Given the description of an element on the screen output the (x, y) to click on. 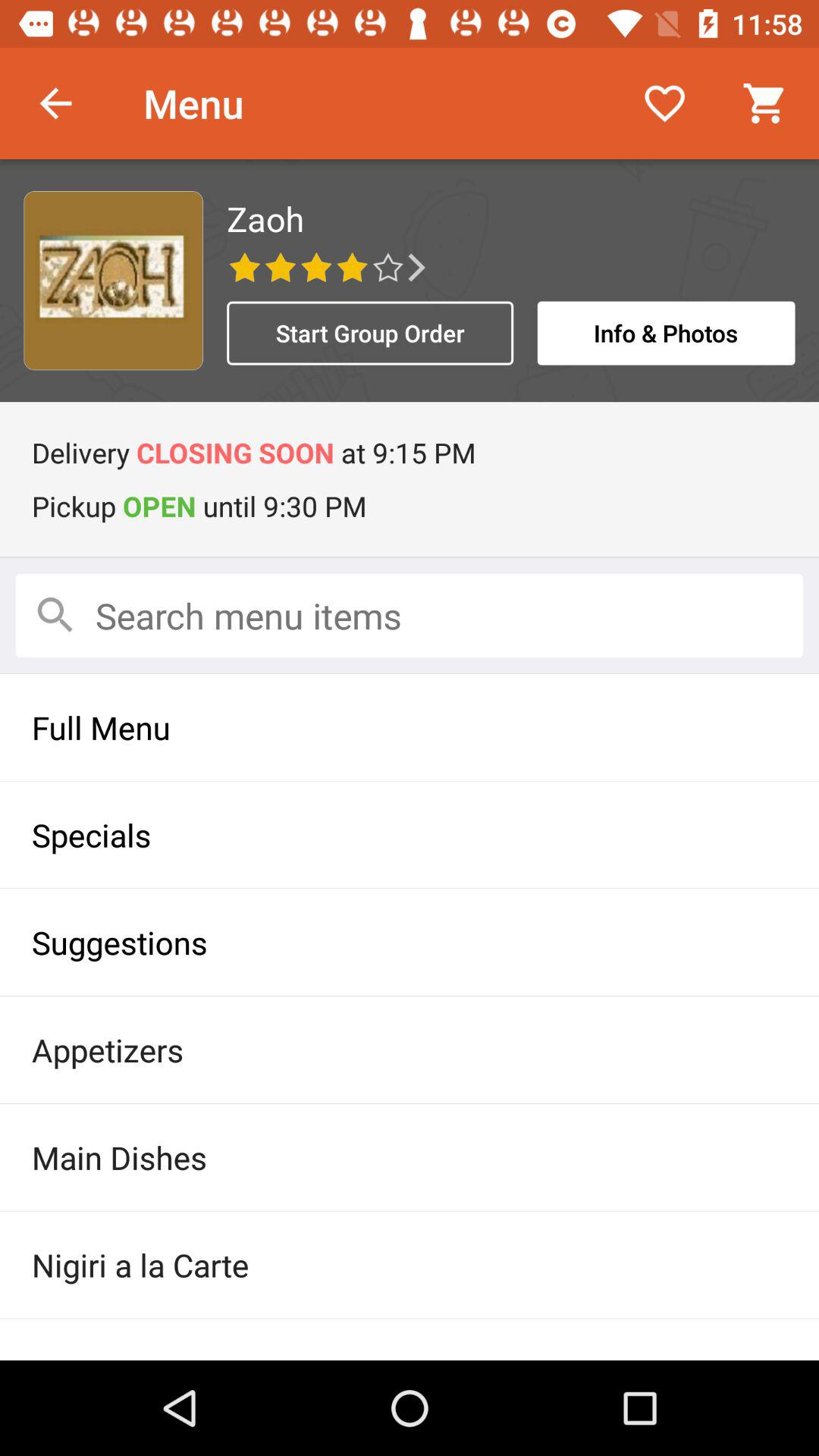
scroll until start group order icon (369, 333)
